Given the description of an element on the screen output the (x, y) to click on. 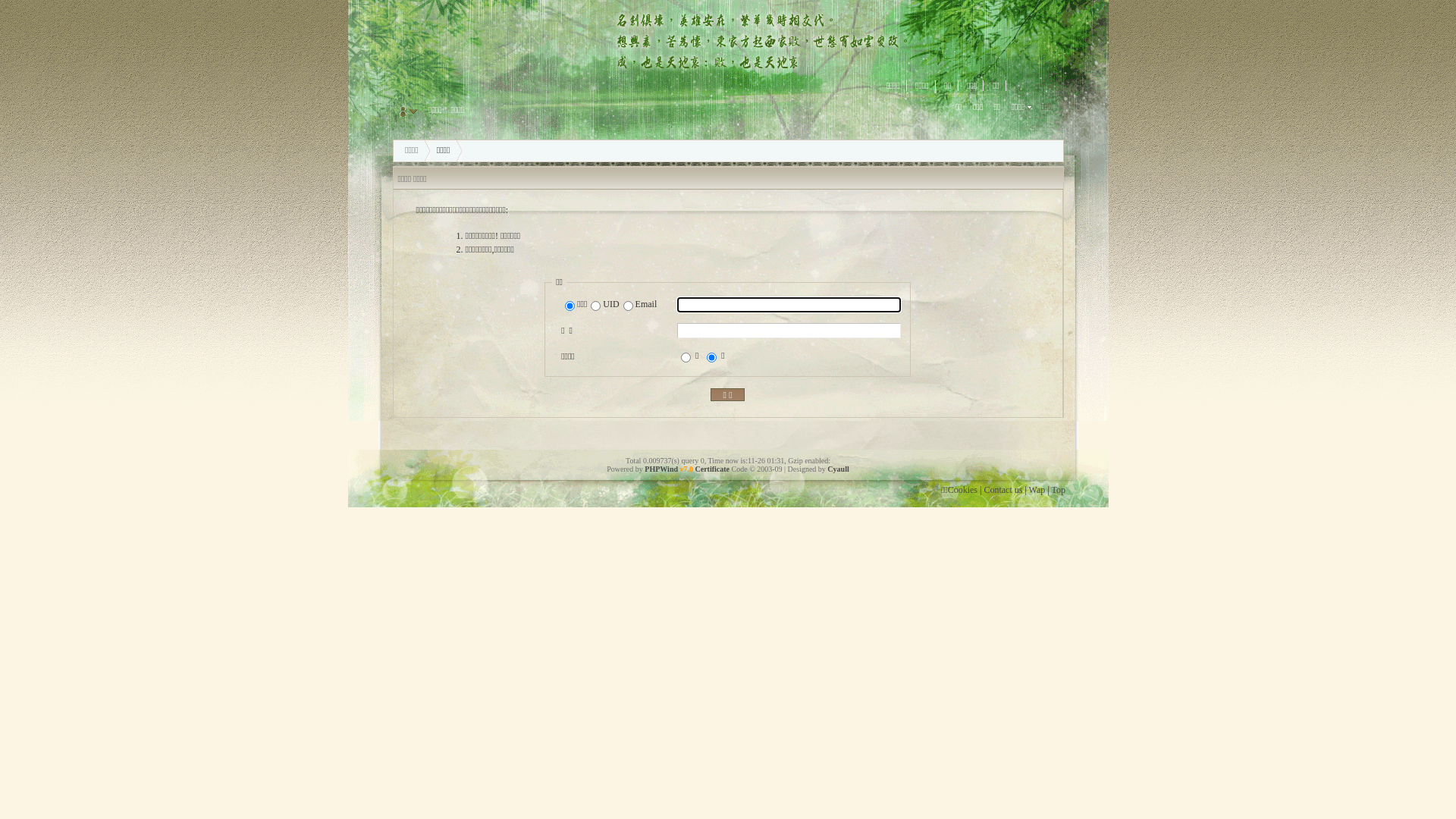
Certificate Element type: text (712, 468)
Cyaull Element type: text (837, 468)
PHPWind Element type: text (660, 468)
Contact us Element type: text (1002, 489)
Top Element type: text (1058, 489)
v7.0 Element type: text (686, 468)
Wap Element type: text (1037, 489)
